Given the description of an element on the screen output the (x, y) to click on. 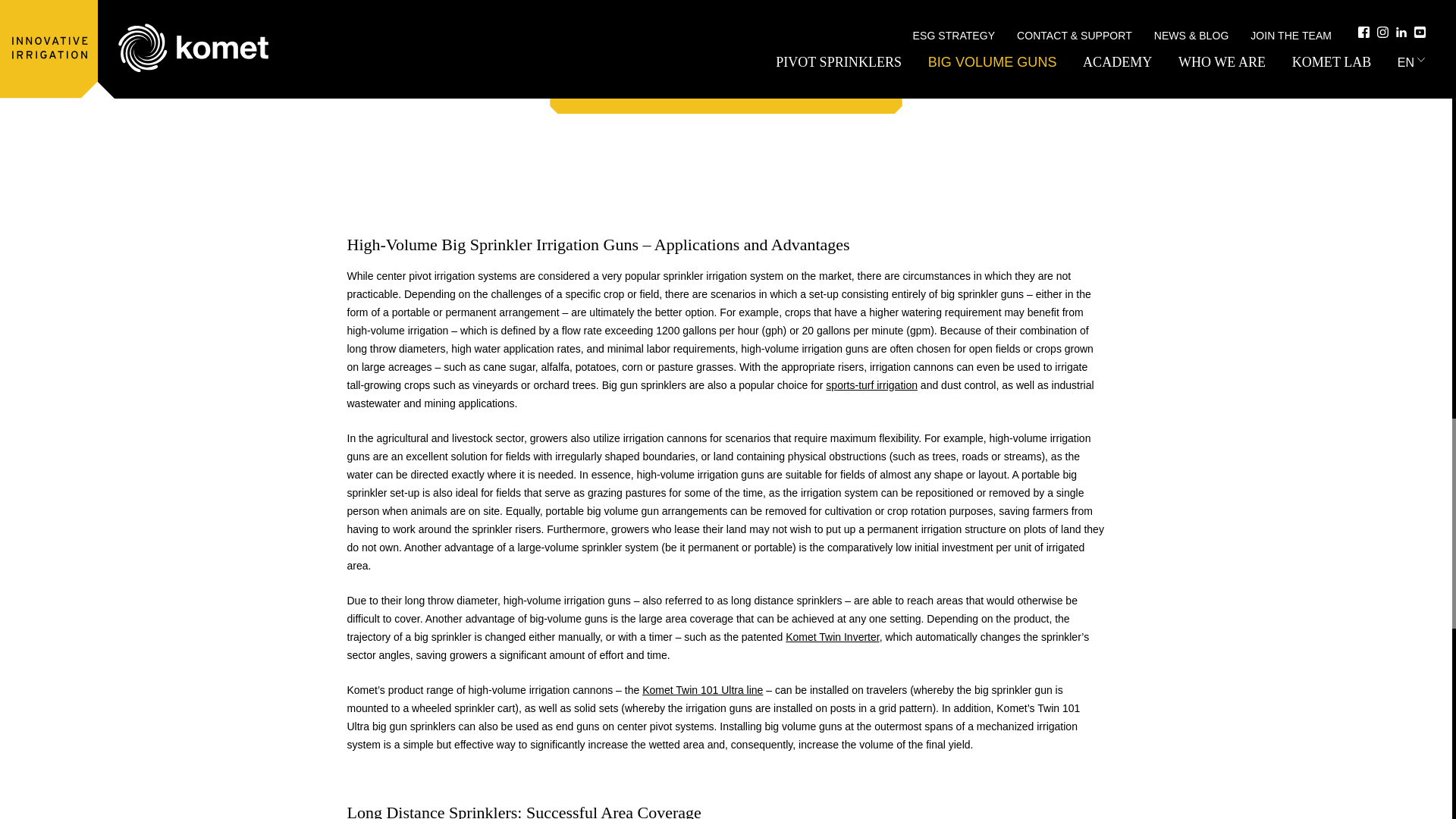
sports-turf irrigation (871, 385)
Komet Twin Inverter (832, 636)
Komet Twin 101 Ultra line (702, 689)
